Given the description of an element on the screen output the (x, y) to click on. 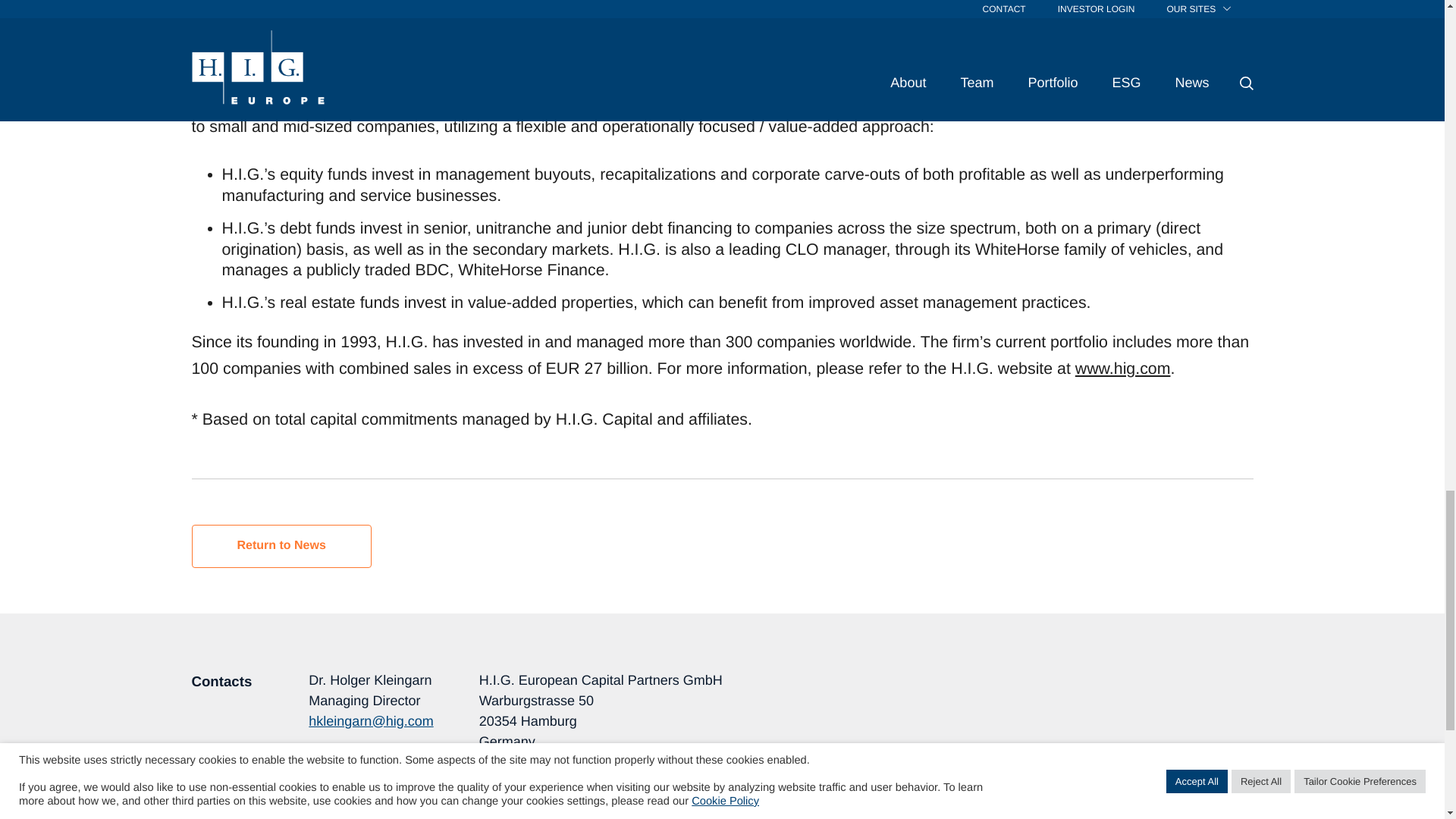
www.hig.com (1122, 368)
www.hig.com (519, 782)
Return to News (280, 545)
